Given the description of an element on the screen output the (x, y) to click on. 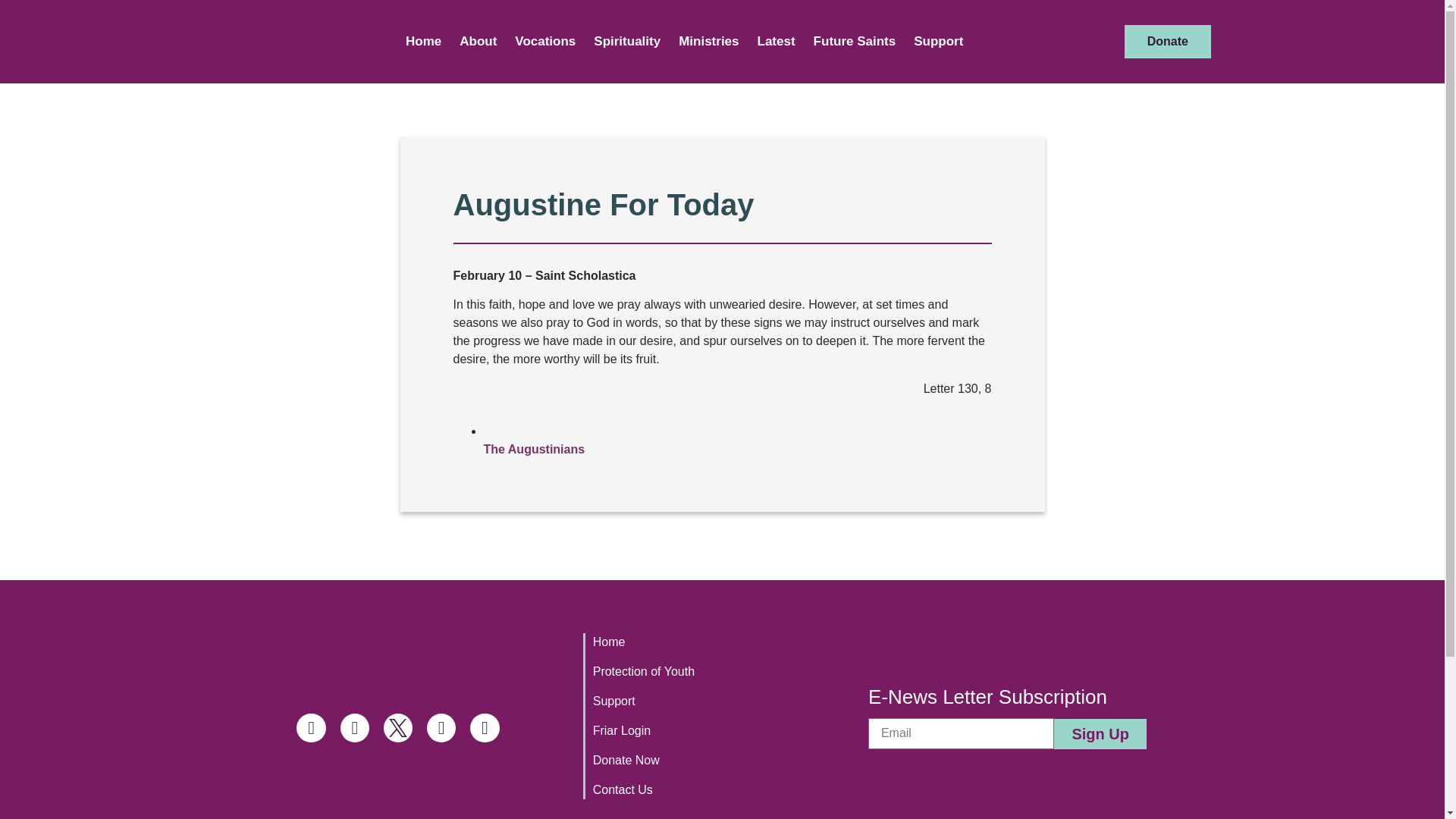
Future Saints (855, 41)
Ministries (708, 41)
Donate (1167, 41)
About (477, 41)
Latest (776, 41)
Home (422, 41)
Support (938, 41)
Spirituality (627, 41)
The Augustinians (534, 449)
Vocations (545, 41)
